Given the description of an element on the screen output the (x, y) to click on. 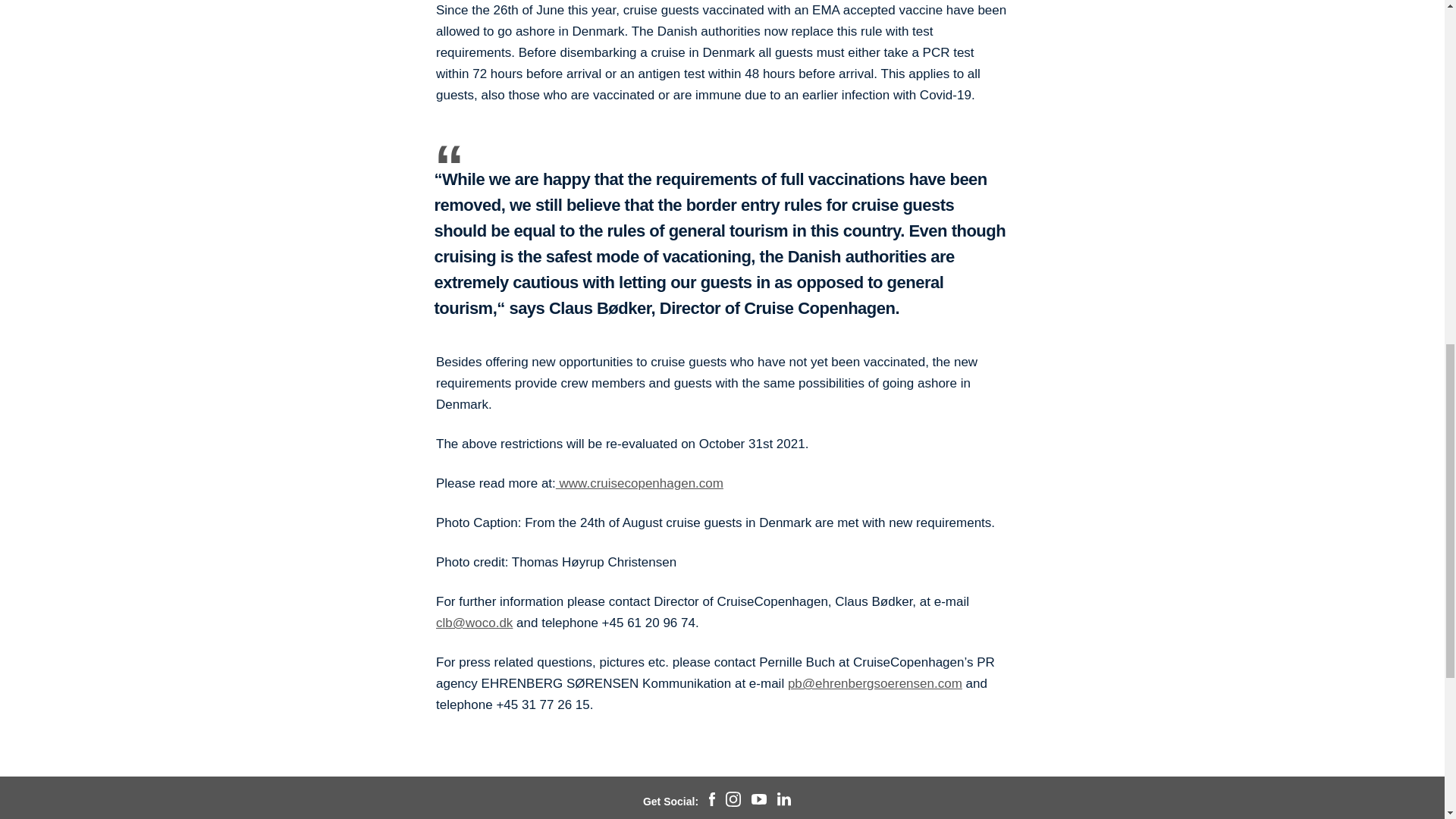
linkedin (783, 800)
facebook (711, 801)
www.cruisecopenhagen.com (639, 482)
instagram (732, 801)
youtube (758, 801)
